Given the description of an element on the screen output the (x, y) to click on. 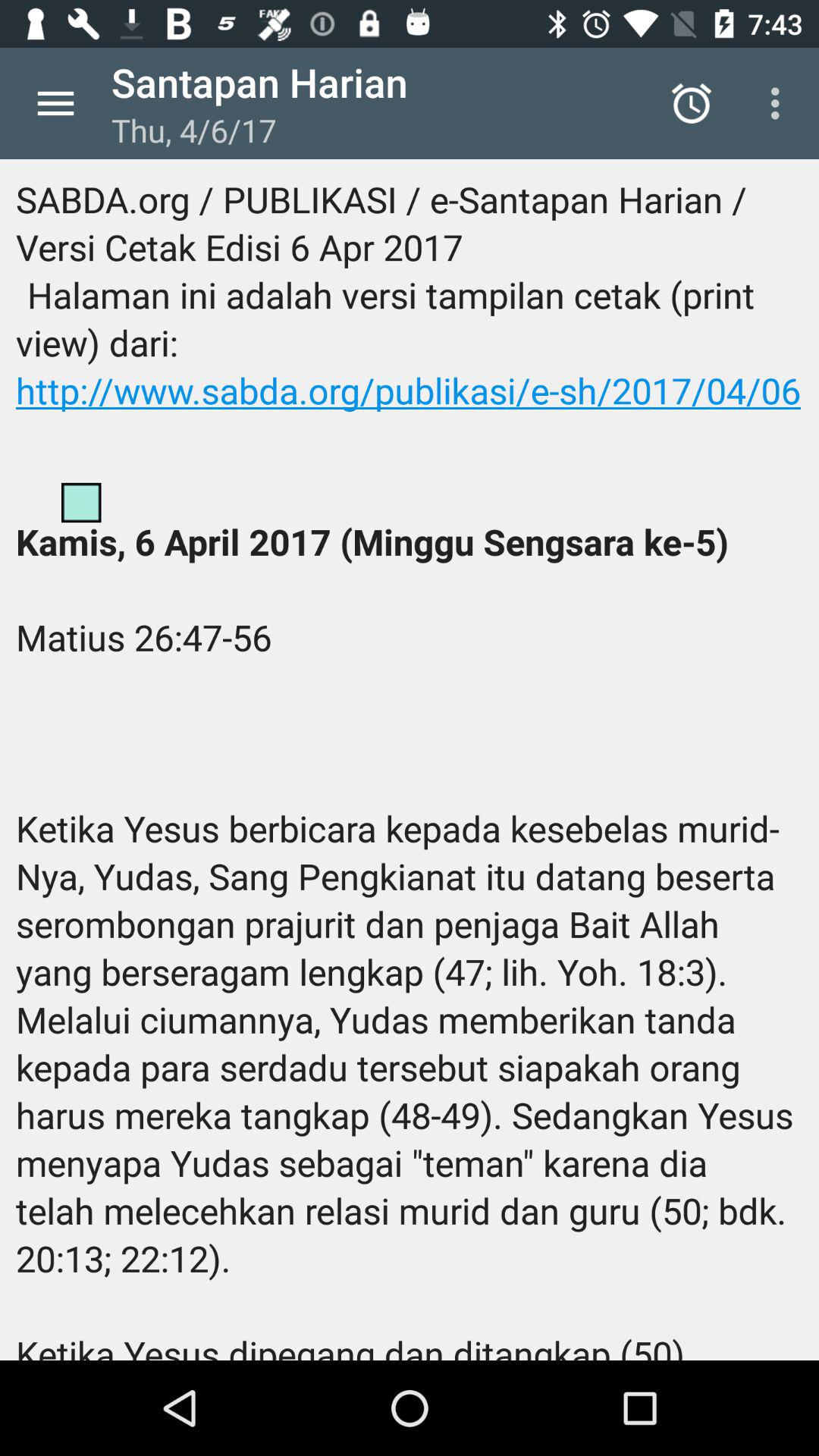
open item above sabda org publikasi icon (55, 103)
